Given the description of an element on the screen output the (x, y) to click on. 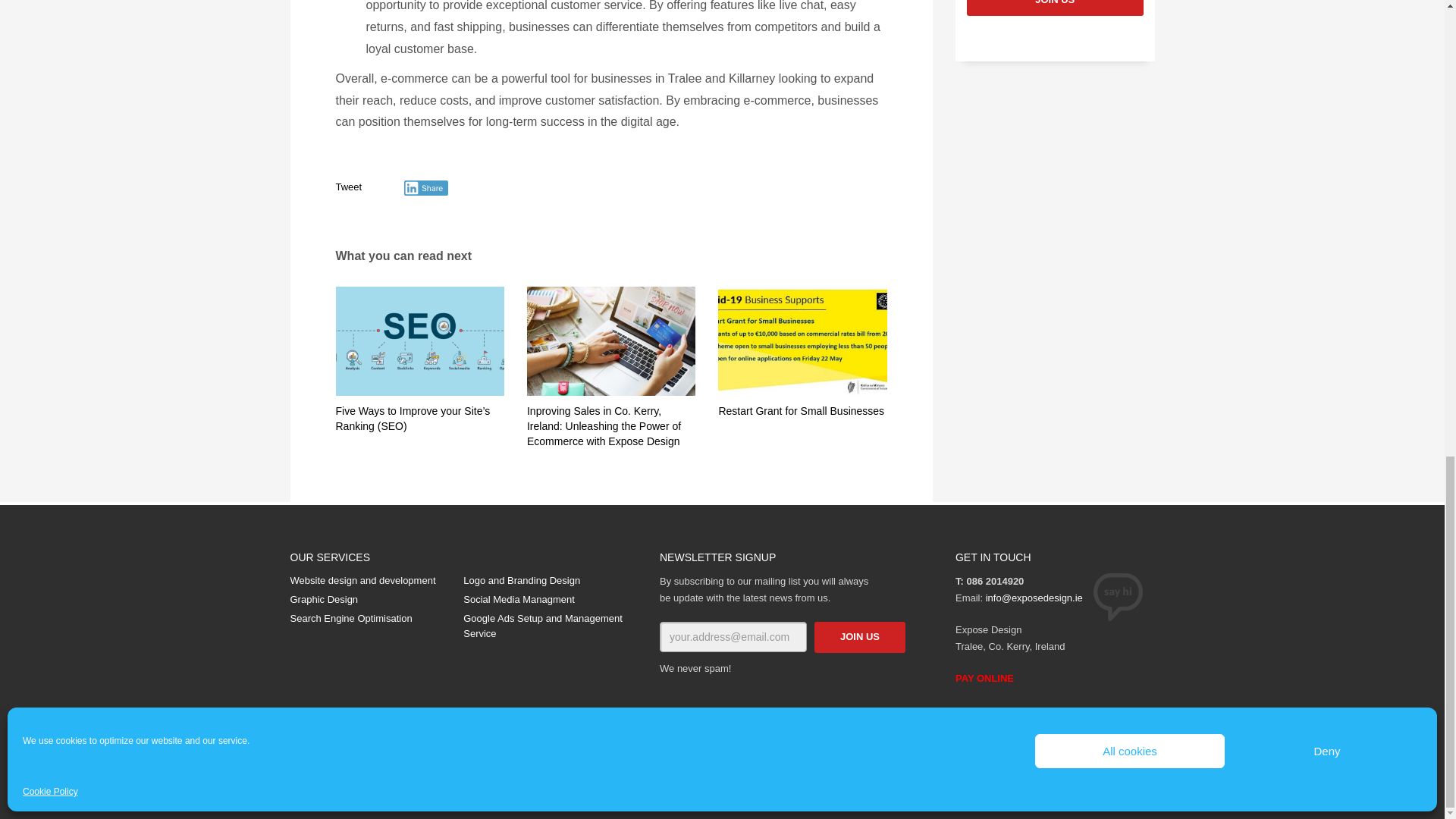
JOIN US (1054, 7)
SEO-Pillar-Post-Art- (418, 340)
website design and development tralee kerry (611, 340)
Follow our tweets! (1142, 748)
JOIN US (859, 636)
Like us on Facebook! (1119, 748)
